Given the description of an element on the screen output the (x, y) to click on. 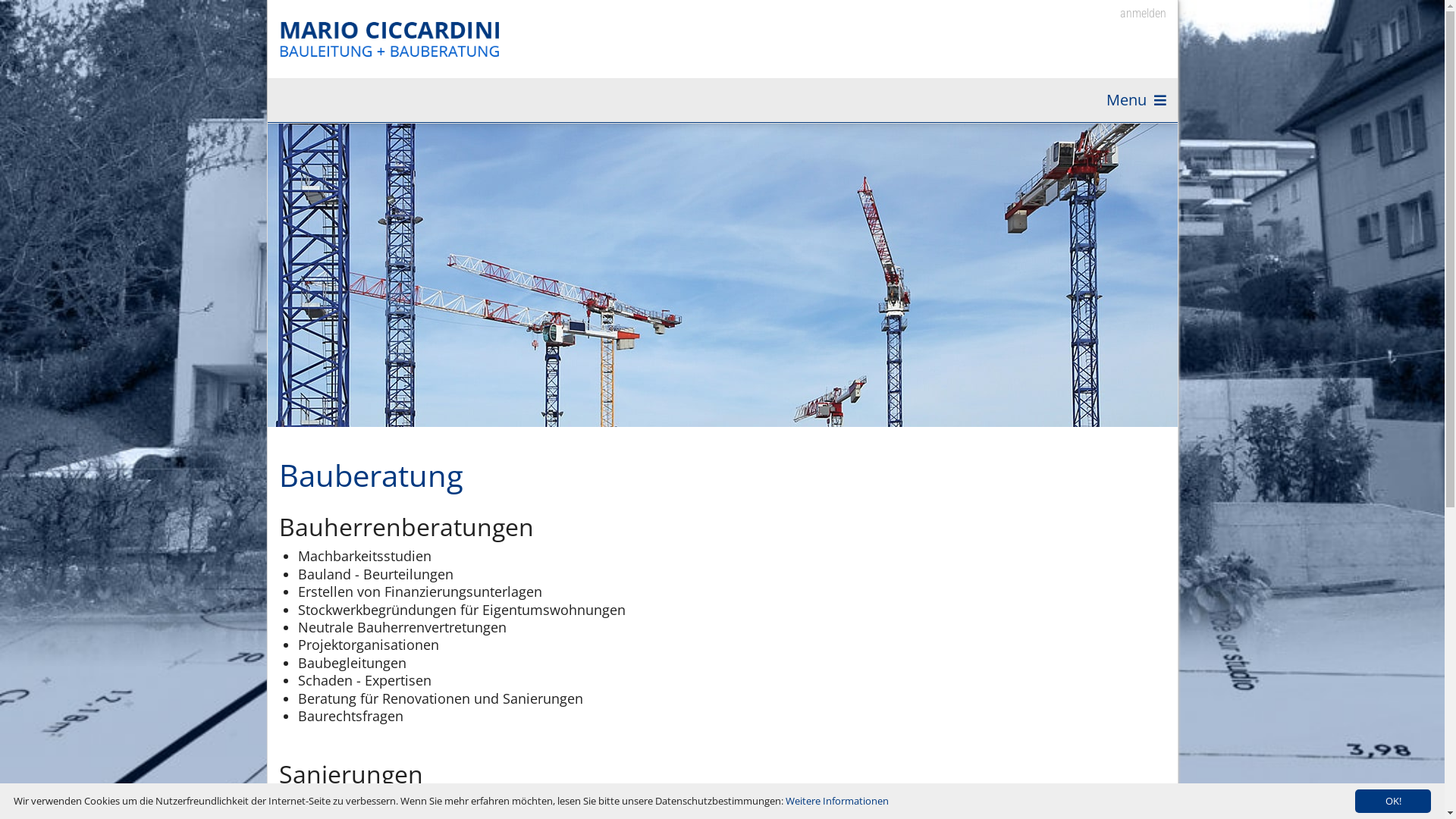
Mario Ciccardini Element type: hover (392, 38)
Weitere Informationen Element type: text (836, 800)
anmelden Element type: text (1132, 13)
